Given the description of an element on the screen output the (x, y) to click on. 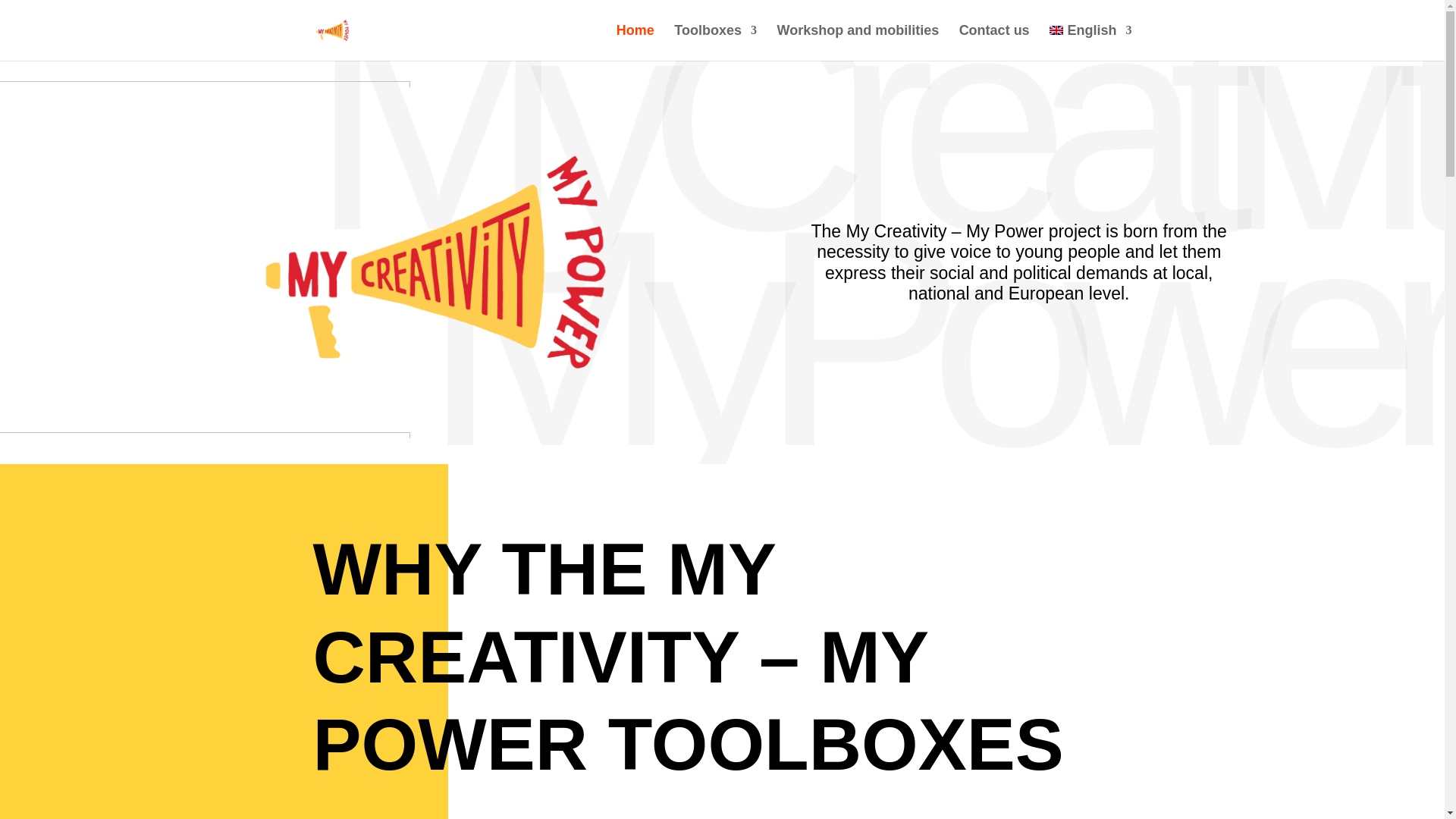
English (1090, 42)
Workshop and mobilities (857, 42)
freelance-writer-05 (205, 435)
freelance-writer-05 (205, 83)
Toolboxes (715, 42)
English (1090, 42)
Home (634, 42)
Contact us (994, 42)
